Given the description of an element on the screen output the (x, y) to click on. 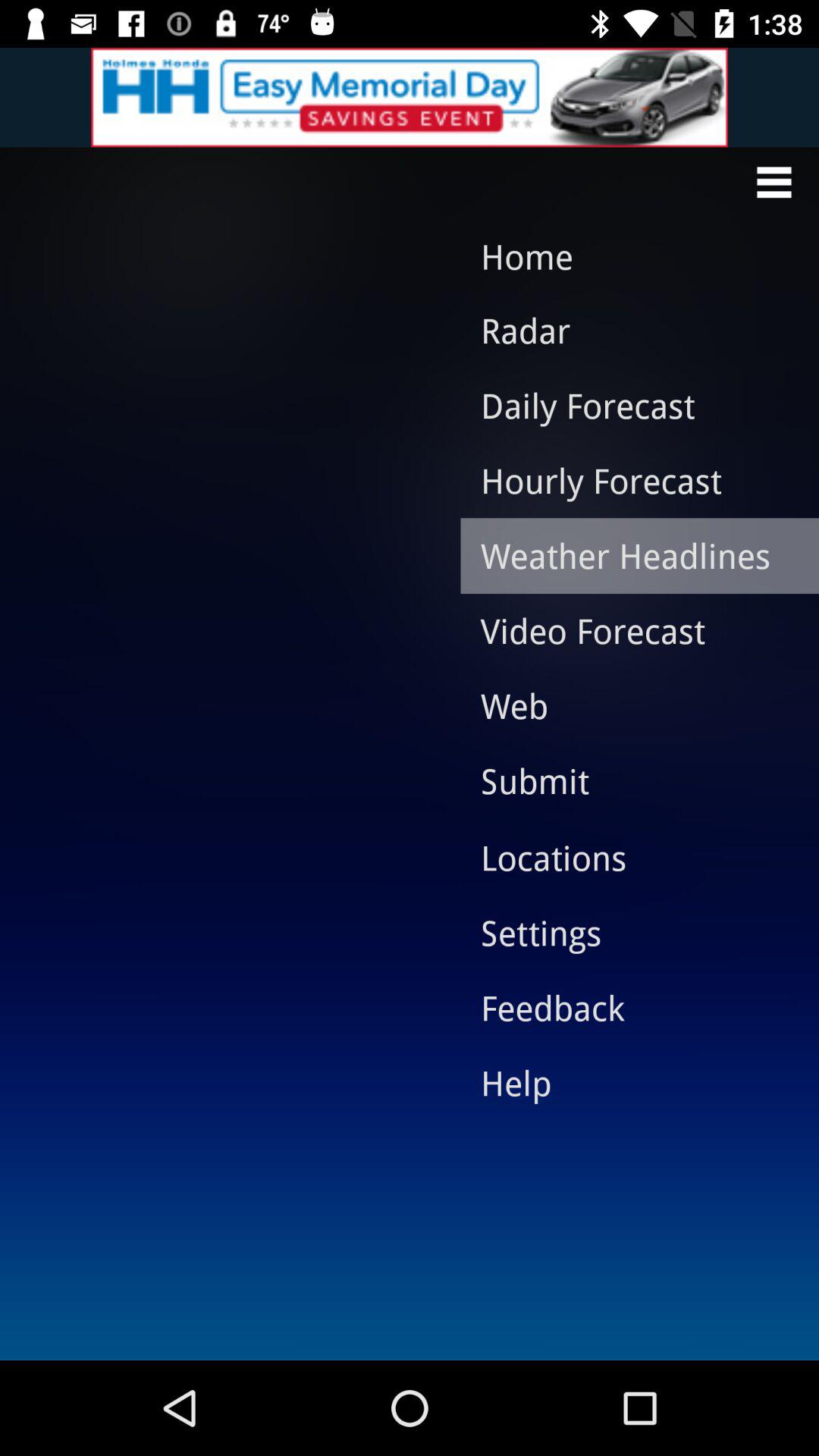
press daily forecast item (627, 405)
